Given the description of an element on the screen output the (x, y) to click on. 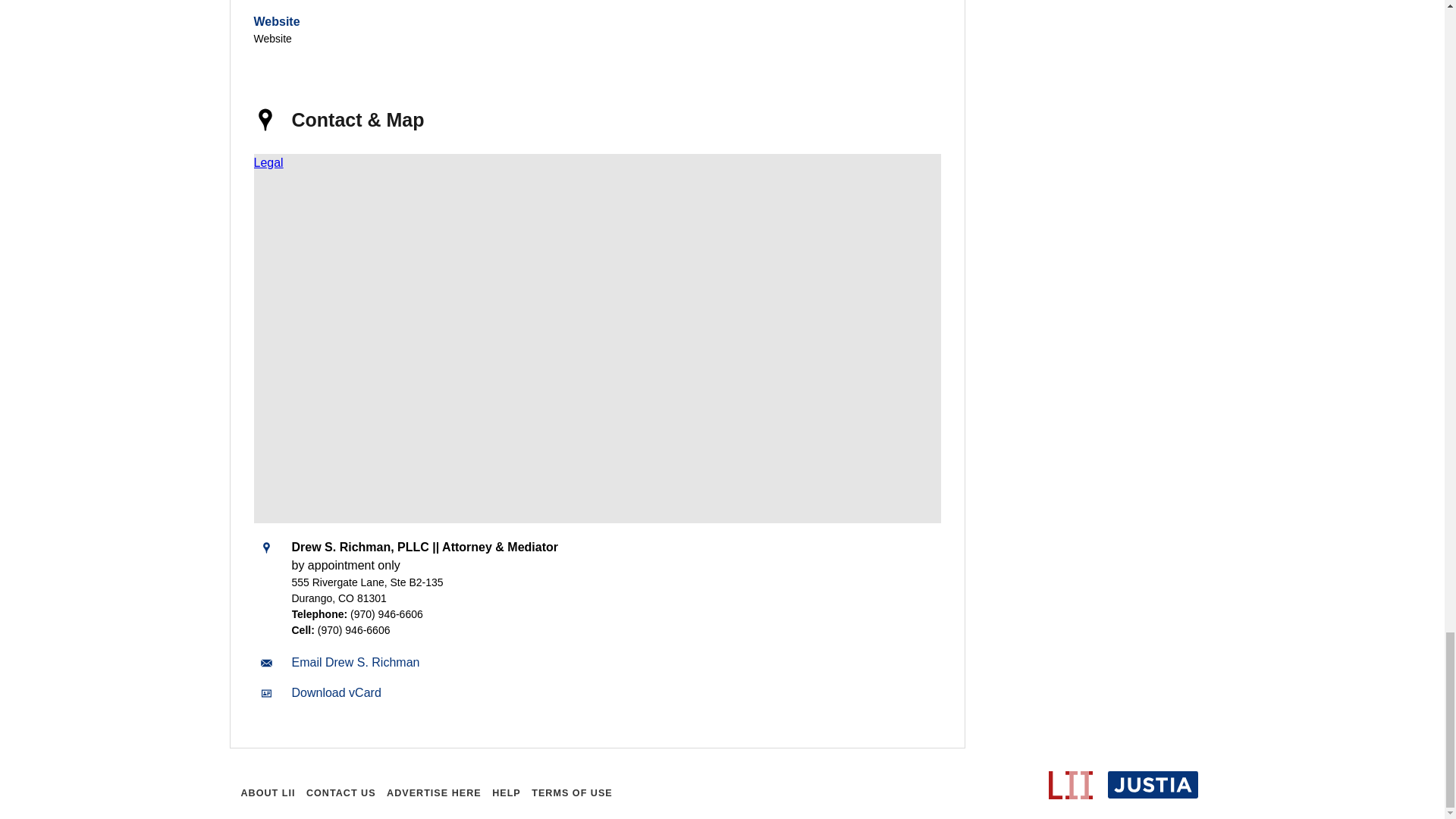
Website (276, 21)
Email Drew S. Richman (355, 662)
Download vCard (335, 692)
